Given the description of an element on the screen output the (x, y) to click on. 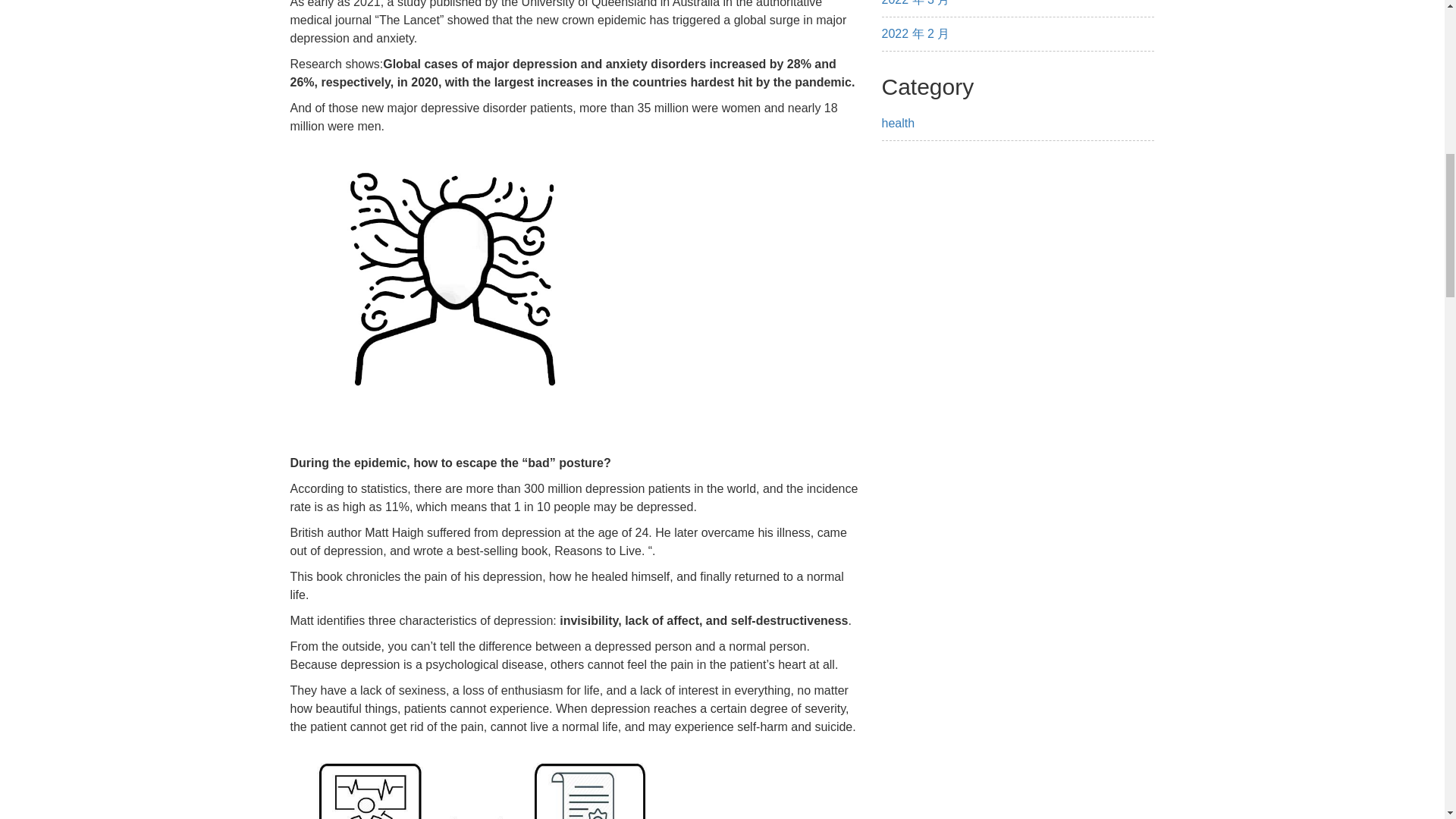
health (897, 123)
